Given the description of an element on the screen output the (x, y) to click on. 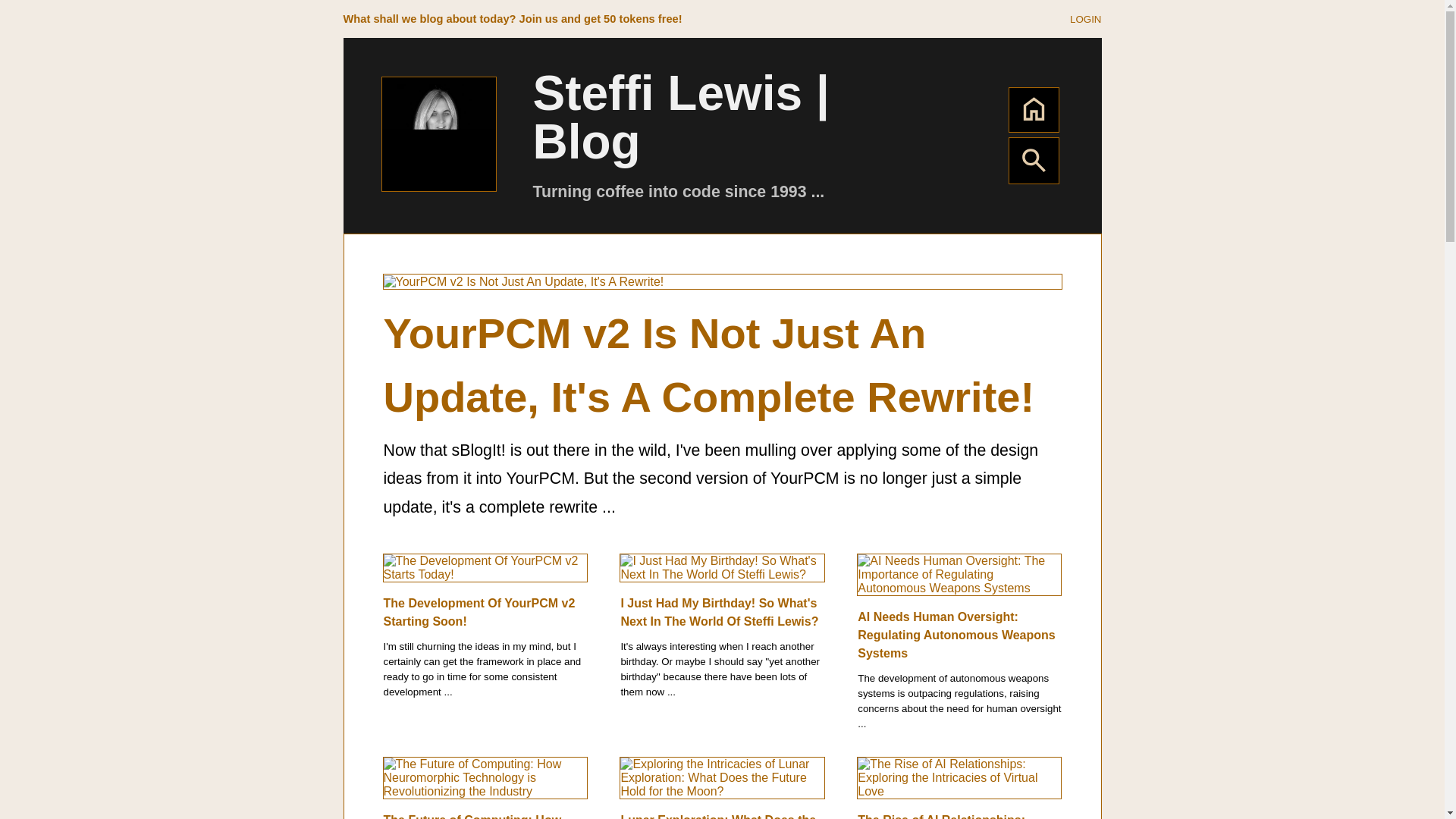
Click here to view this blog post (955, 635)
Click here to view this blog post (709, 364)
Click here to view this blog post (722, 776)
Click here to return to the homepage (438, 187)
Click here to view this blog post (473, 816)
Click here to view this blog post (722, 566)
Click here to view (1085, 18)
LOGIN (1085, 18)
